Given the description of an element on the screen output the (x, y) to click on. 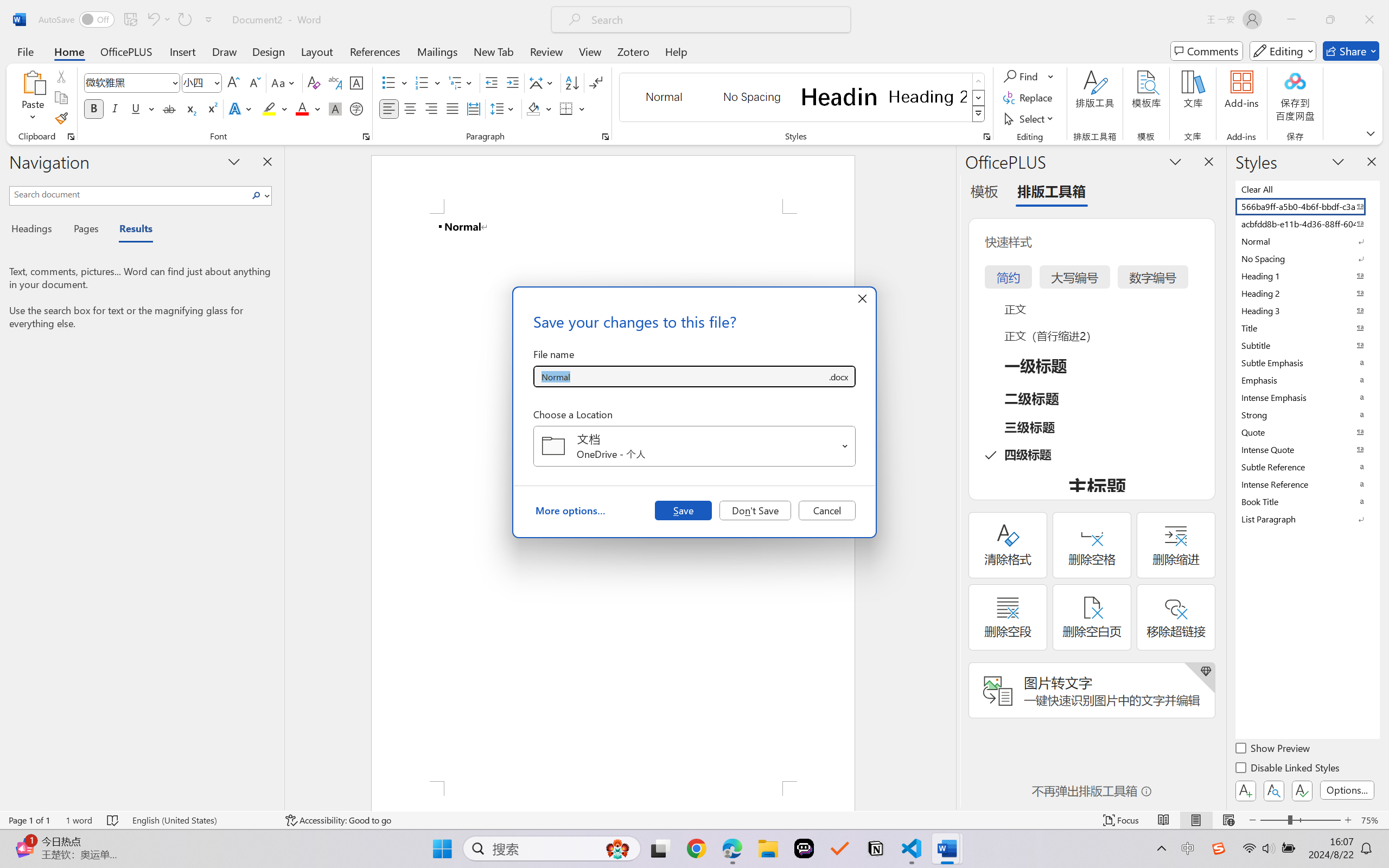
Sort... (571, 82)
Row up (978, 81)
Disable Linked Styles (1287, 769)
Numbering (428, 82)
Word Count 1 word (78, 819)
Choose a Location (694, 446)
Save (682, 509)
Emphasis (1306, 379)
Subtle Emphasis (1306, 362)
Page Number Page 1 of 1 (29, 819)
